Given the description of an element on the screen output the (x, y) to click on. 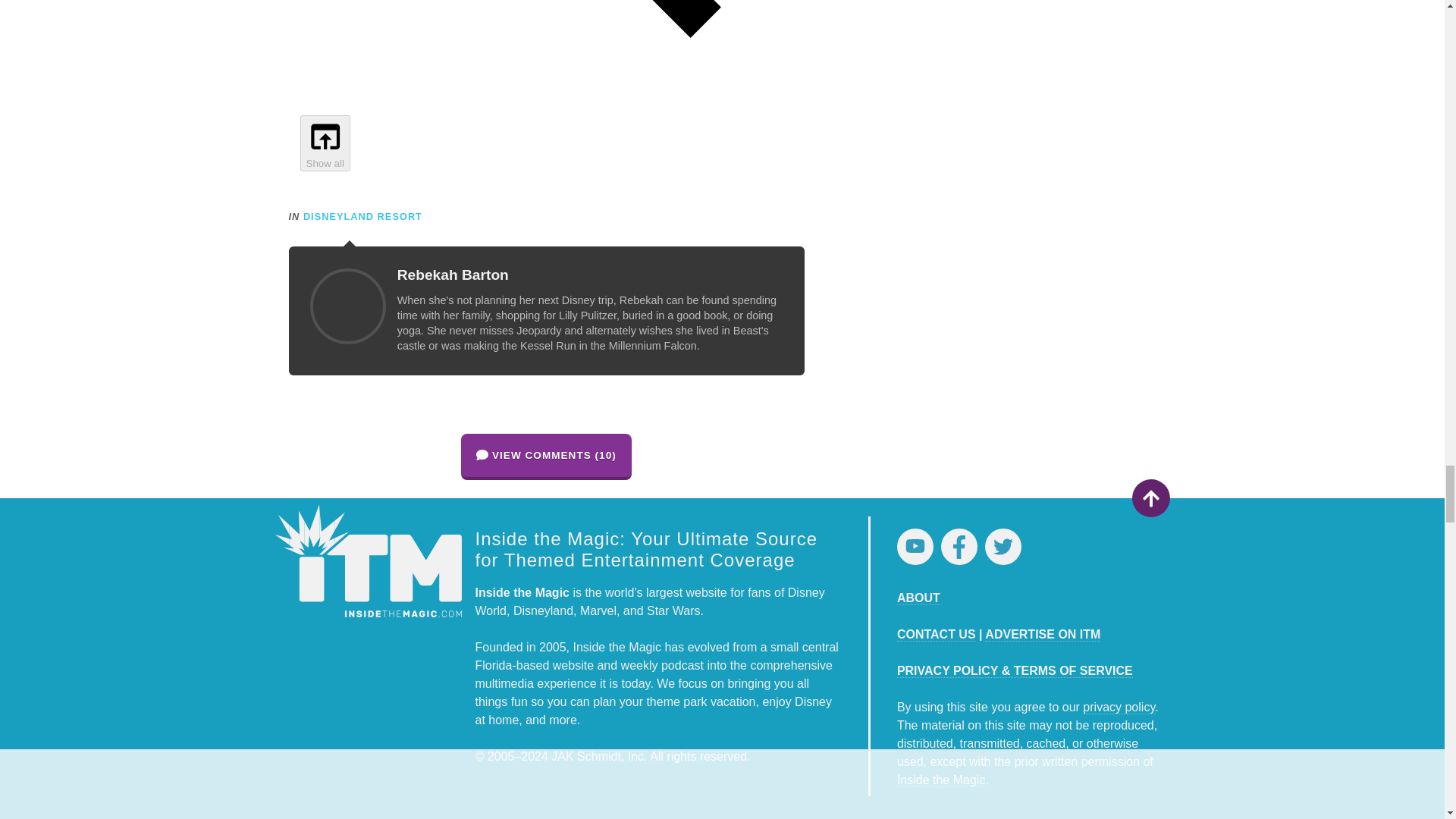
Return to Top (1150, 497)
